Given the description of an element on the screen output the (x, y) to click on. 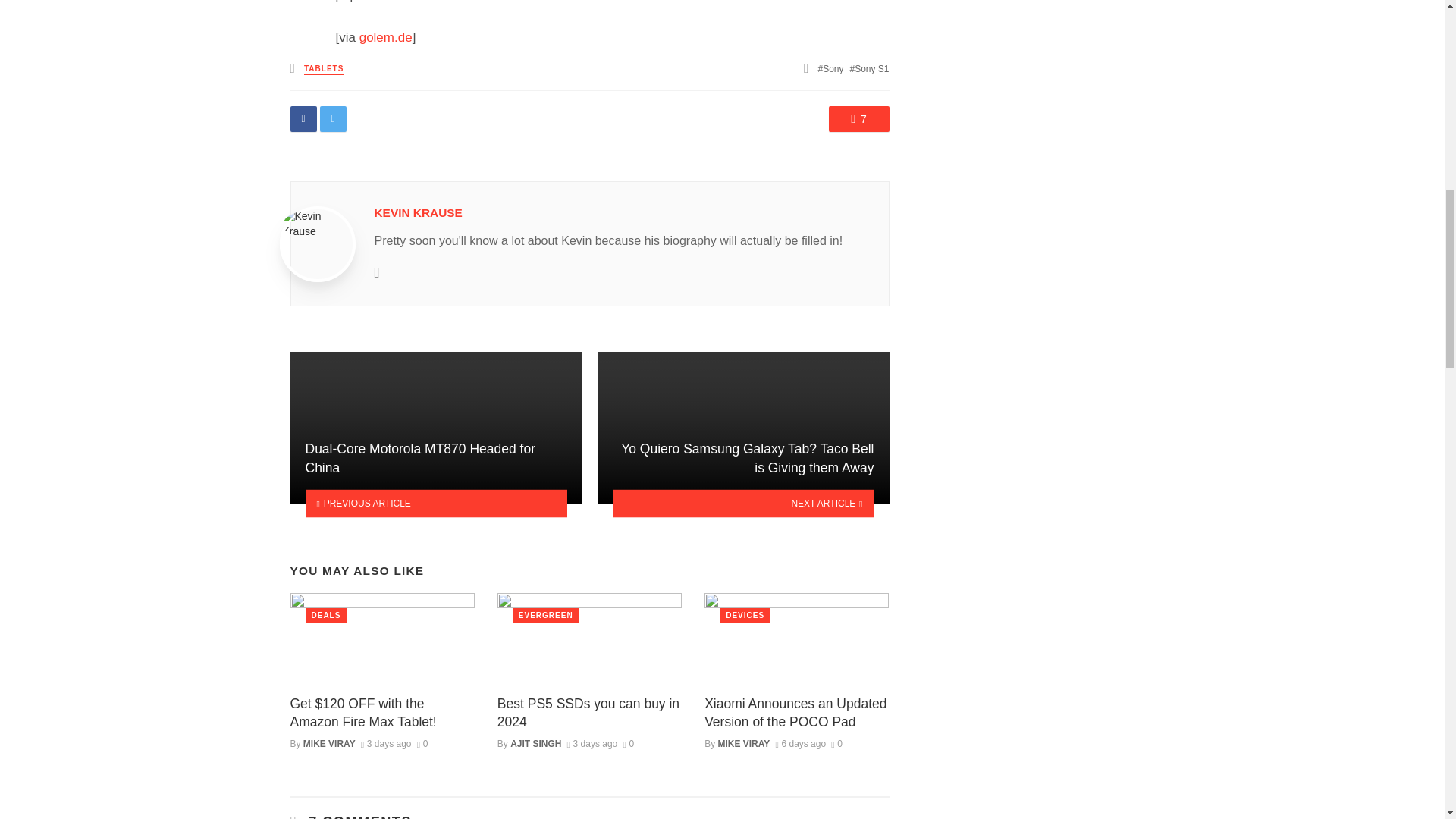
7 Comments (858, 118)
Sony S1 (869, 68)
0 Comments (837, 743)
Sony (831, 68)
7 (858, 118)
Share on Twitter (333, 118)
Posts by Kevin Krause (418, 212)
golem.de (385, 37)
0 Comments (422, 743)
August 23, 2024 at 5:50 pm (799, 743)
